Given the description of an element on the screen output the (x, y) to click on. 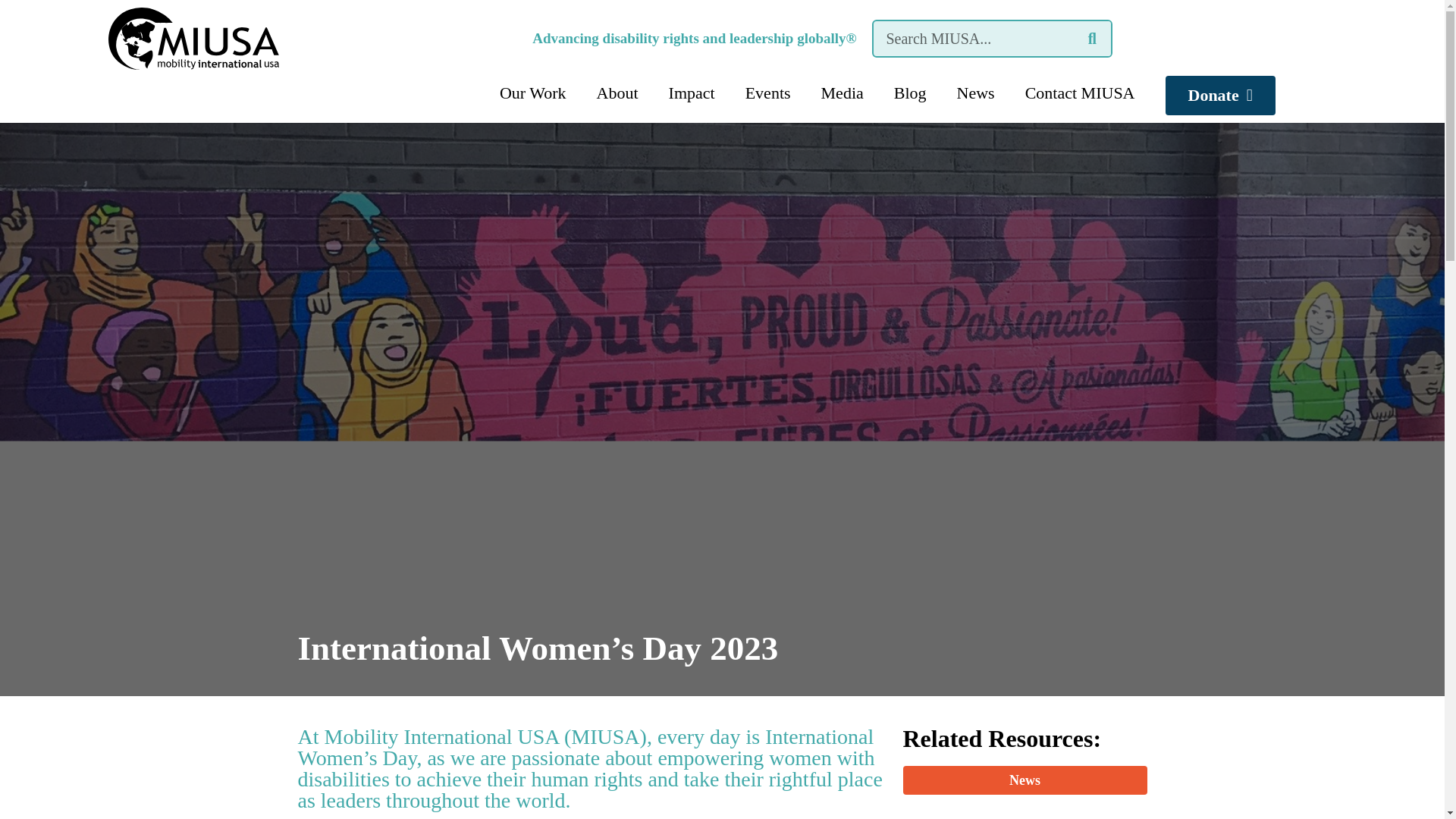
Media (842, 93)
Events (768, 93)
Donate (1219, 95)
Contact MIUSA (1080, 93)
Our Work (532, 93)
Impact (691, 93)
News (976, 93)
Blog (910, 93)
About (616, 93)
